Given the description of an element on the screen output the (x, y) to click on. 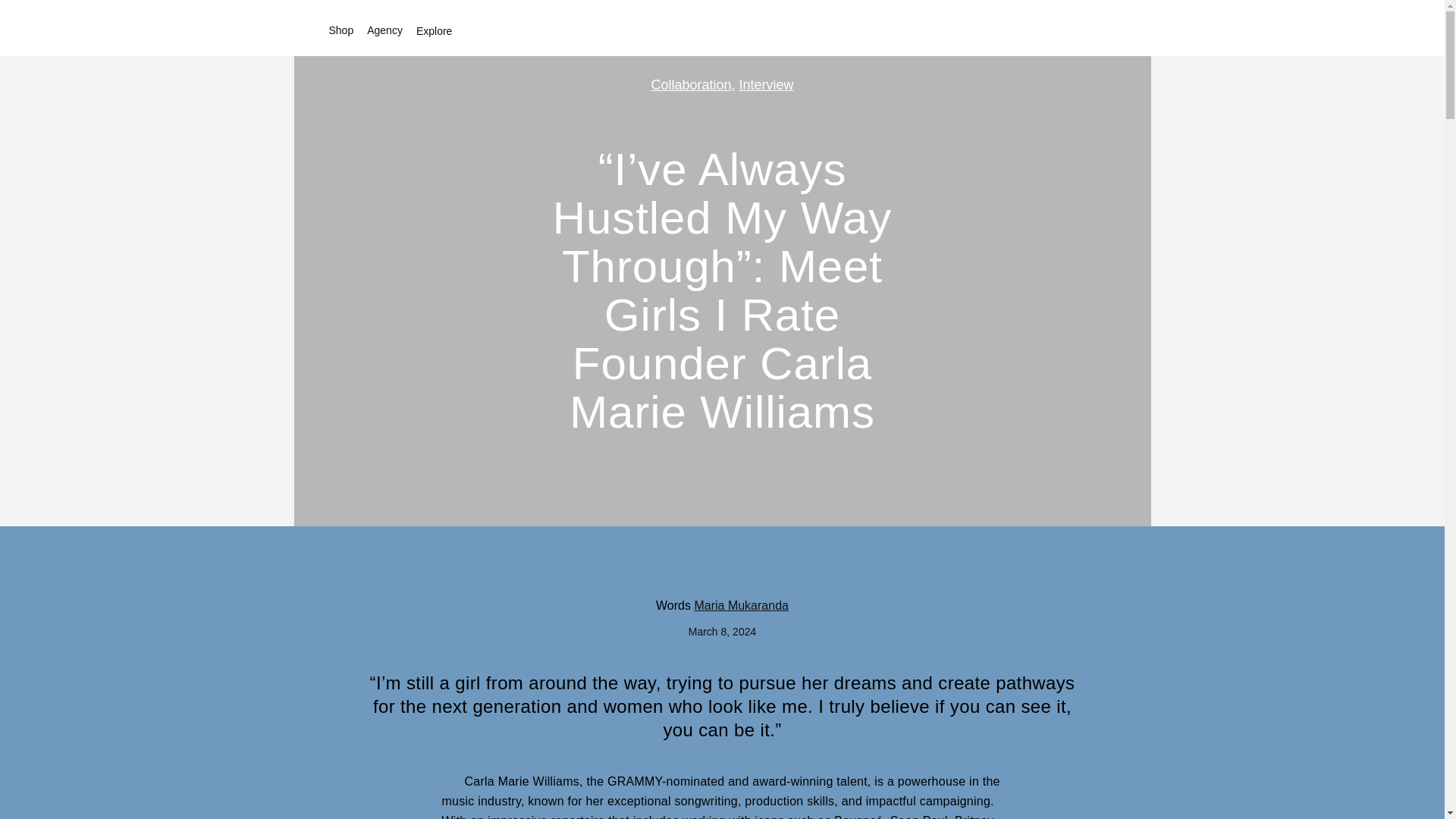
Shop (344, 30)
Collaboration (690, 84)
Maria Mukaranda (741, 604)
Agency (387, 30)
March 8, 2024 (722, 631)
Interview (766, 84)
